Given the description of an element on the screen output the (x, y) to click on. 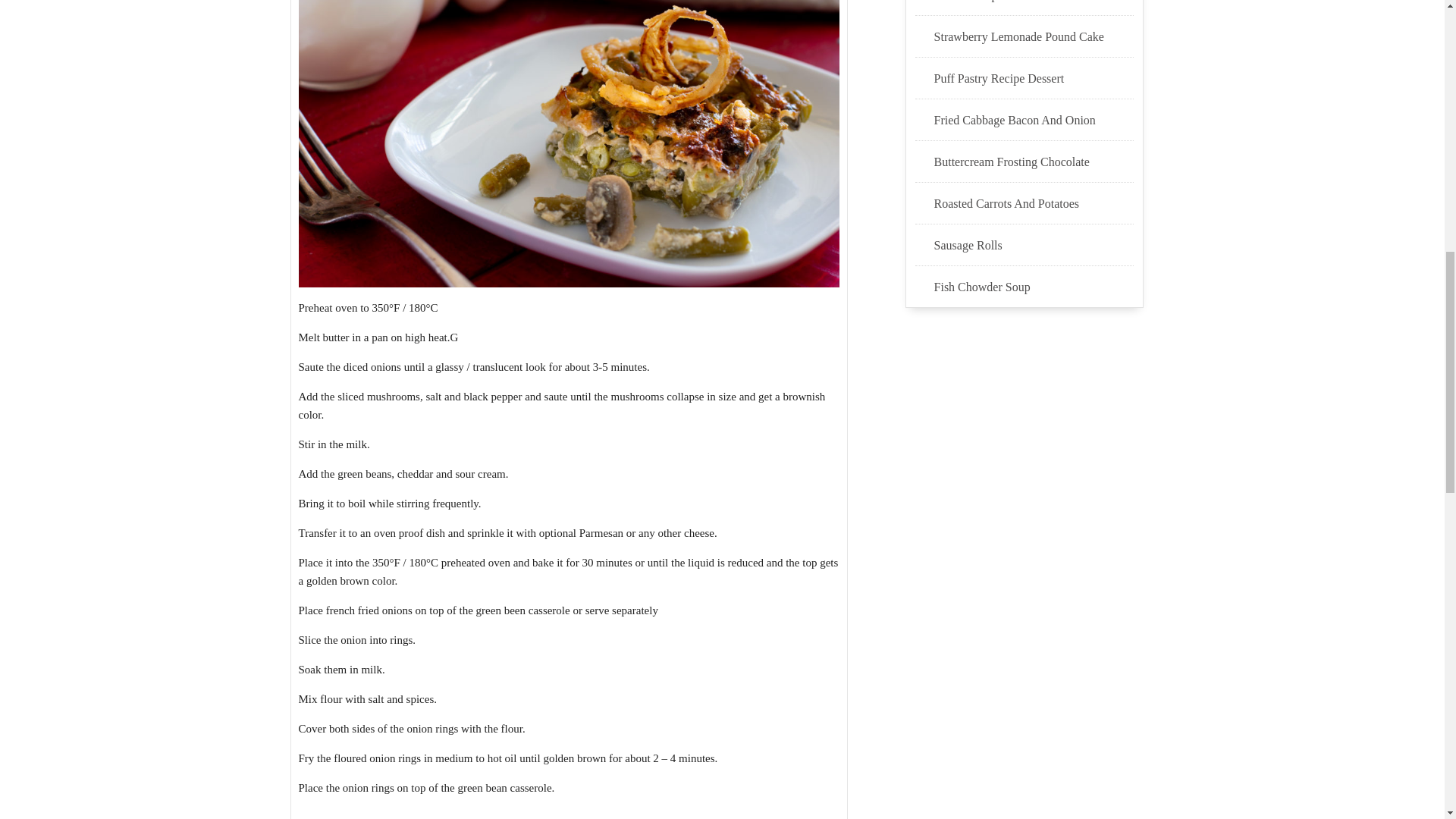
Fish Chowder Soup (1034, 287)
Roasted Carrots And Potatoes (1034, 203)
Noodle Soup (1034, 2)
Sausage Rolls (1034, 245)
Buttercream Frosting Chocolate (1034, 162)
Puff Pastry Recipe Dessert (1034, 78)
Strawberry Lemonade Pound Cake (1034, 36)
Fried Cabbage Bacon And Onion (1034, 120)
